Given the description of an element on the screen output the (x, y) to click on. 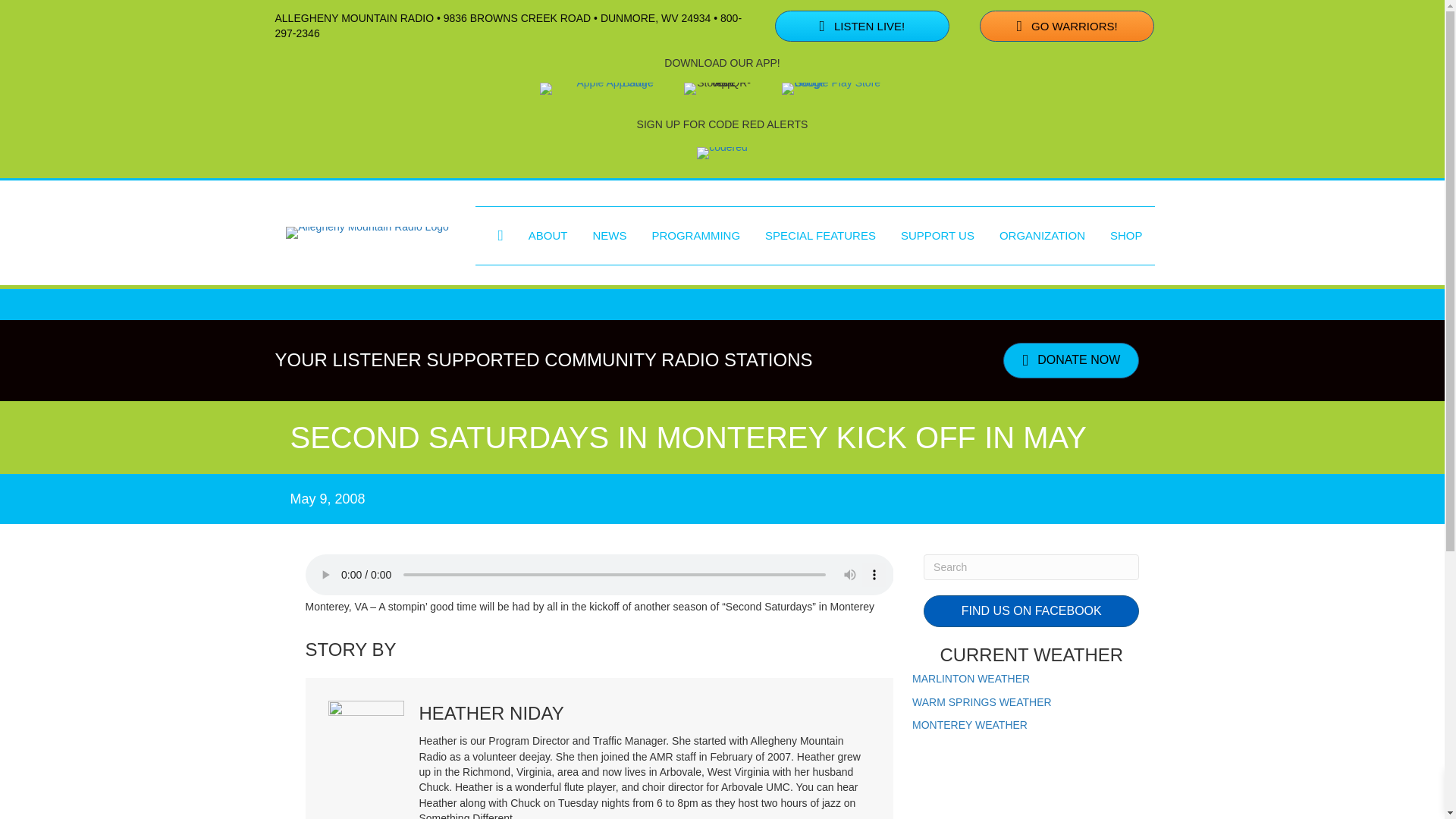
Apple App Store Badge (596, 88)
LISTEN LIVE! (861, 26)
NEWS (609, 235)
Google Play Store Badge (838, 88)
ABOUT (547, 235)
SUPPORT US (937, 235)
PROGRAMMING (695, 235)
SPECIAL FEATURES (820, 235)
App Stores-QR-code (718, 88)
GO WARRIORS! (1066, 26)
Allegheny Mountain Radio (366, 232)
codered (722, 152)
SHOP (1125, 235)
Type and press Enter to search. (1030, 566)
ORGANIZATION (1042, 235)
